Given the description of an element on the screen output the (x, y) to click on. 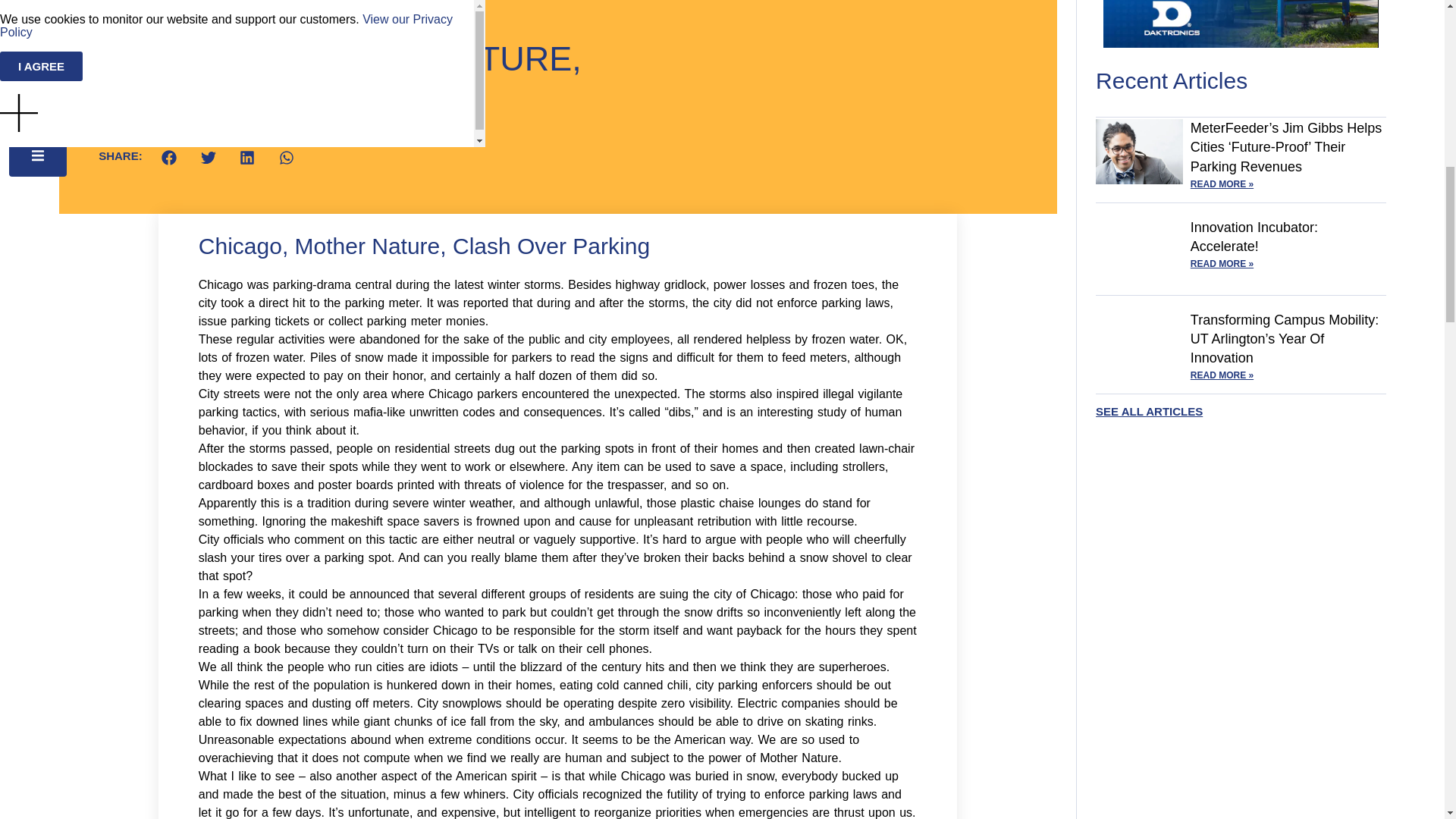
NO COMMENTS (260, 25)
